Given the description of an element on the screen output the (x, y) to click on. 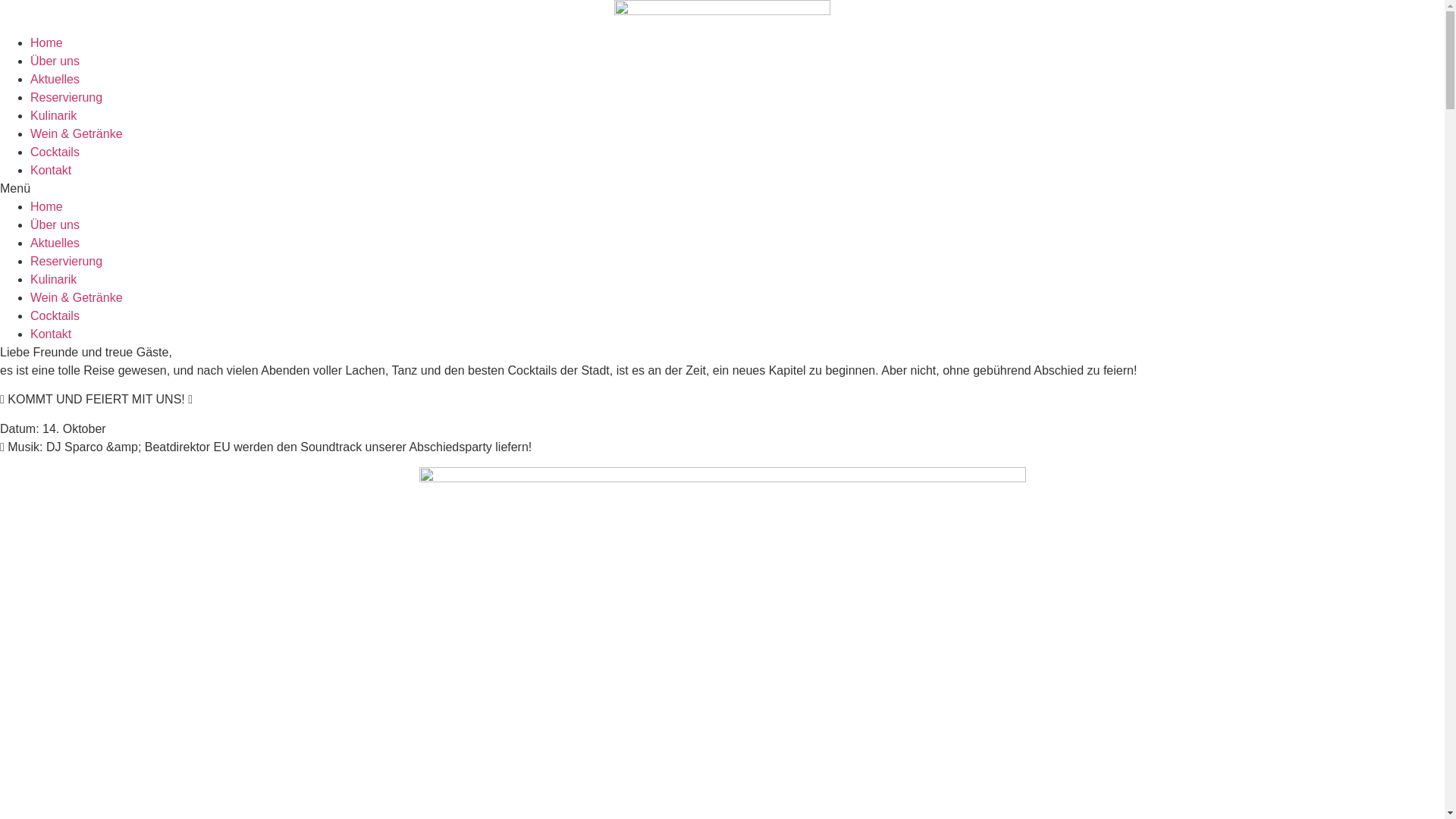
Cocktails Element type: text (54, 315)
Zum Inhalt wechseln Element type: text (0, 0)
Cocktails Element type: text (54, 151)
Kontakt Element type: text (50, 333)
Aktuelles Element type: text (54, 78)
Home Element type: text (46, 206)
Home Element type: text (46, 42)
Kulinarik Element type: text (53, 115)
Reservierung Element type: text (66, 97)
Kontakt Element type: text (50, 169)
Reservierung Element type: text (66, 260)
Kulinarik Element type: text (53, 279)
Aktuelles Element type: text (54, 242)
